Given the description of an element on the screen output the (x, y) to click on. 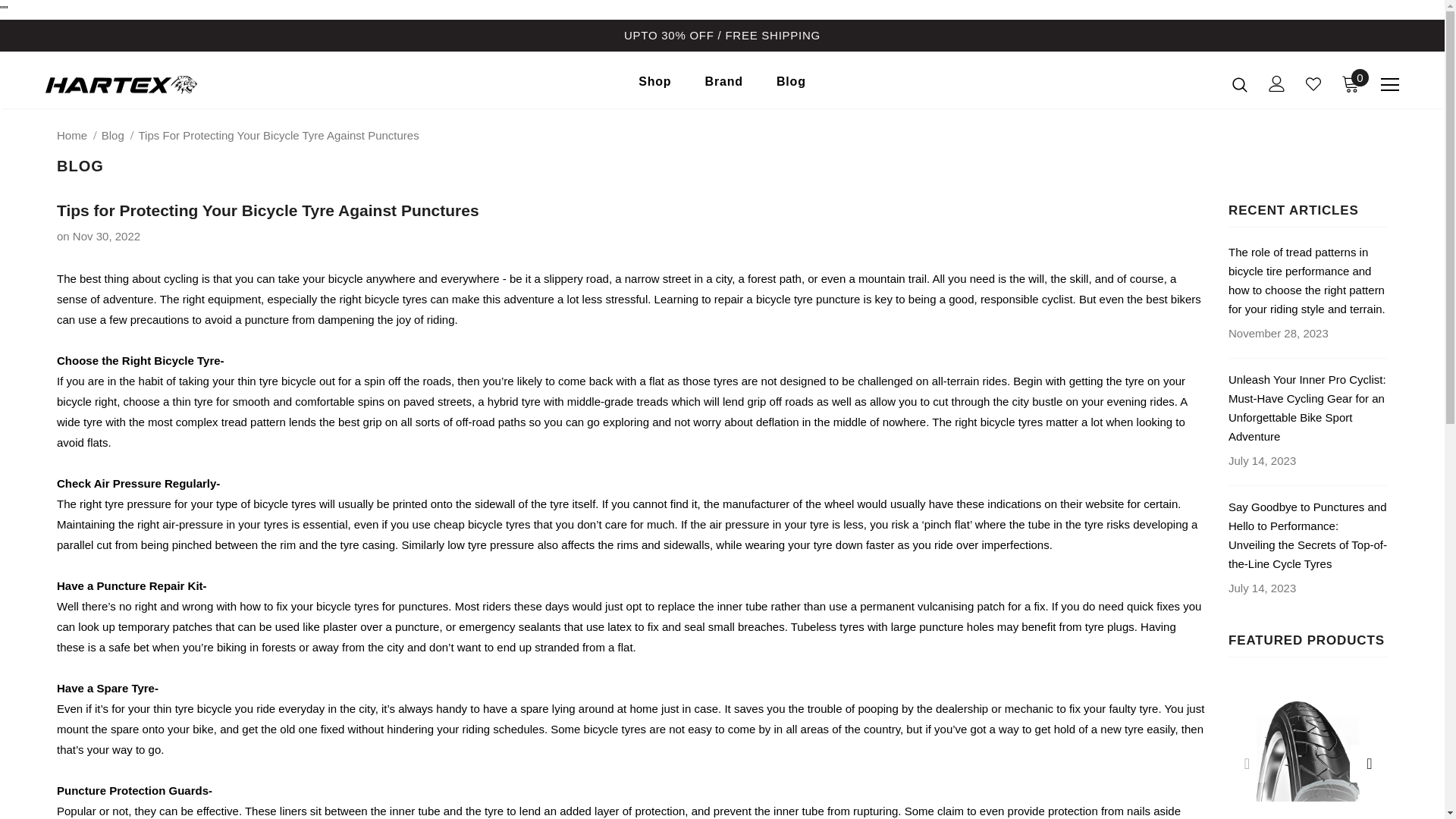
Blog (112, 134)
Shop (655, 85)
Logo (134, 83)
Home (71, 135)
Search Icon (1239, 83)
Brand (723, 85)
0 (1349, 83)
Blog (791, 85)
